Given the description of an element on the screen output the (x, y) to click on. 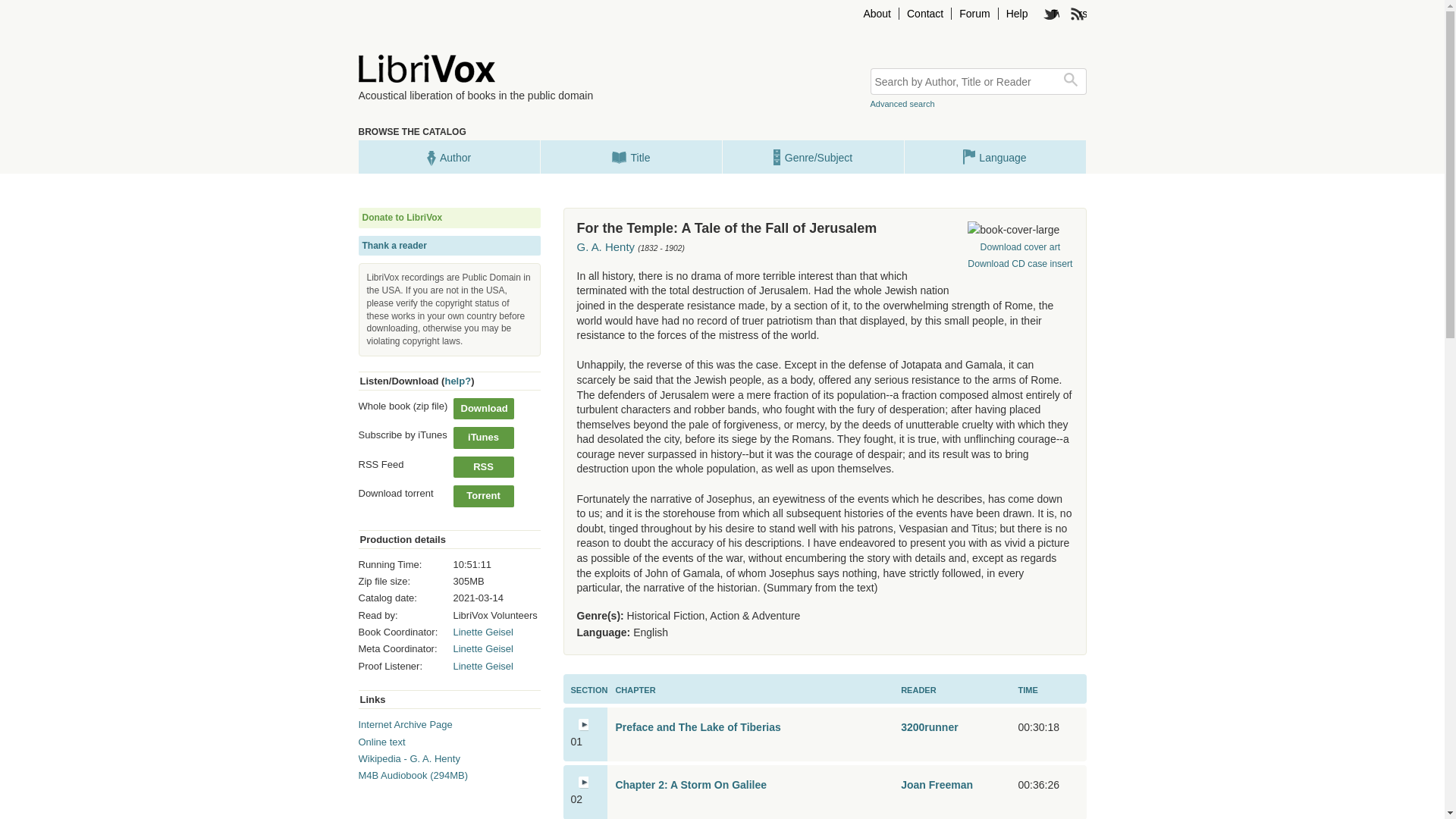
Online text (381, 741)
Language (994, 156)
Skip to content (875, 13)
Download cover art (1019, 247)
Author (448, 156)
3200runner (929, 727)
iTunes (482, 436)
About (877, 13)
Download (482, 408)
Twitter (1051, 13)
